Given the description of an element on the screen output the (x, y) to click on. 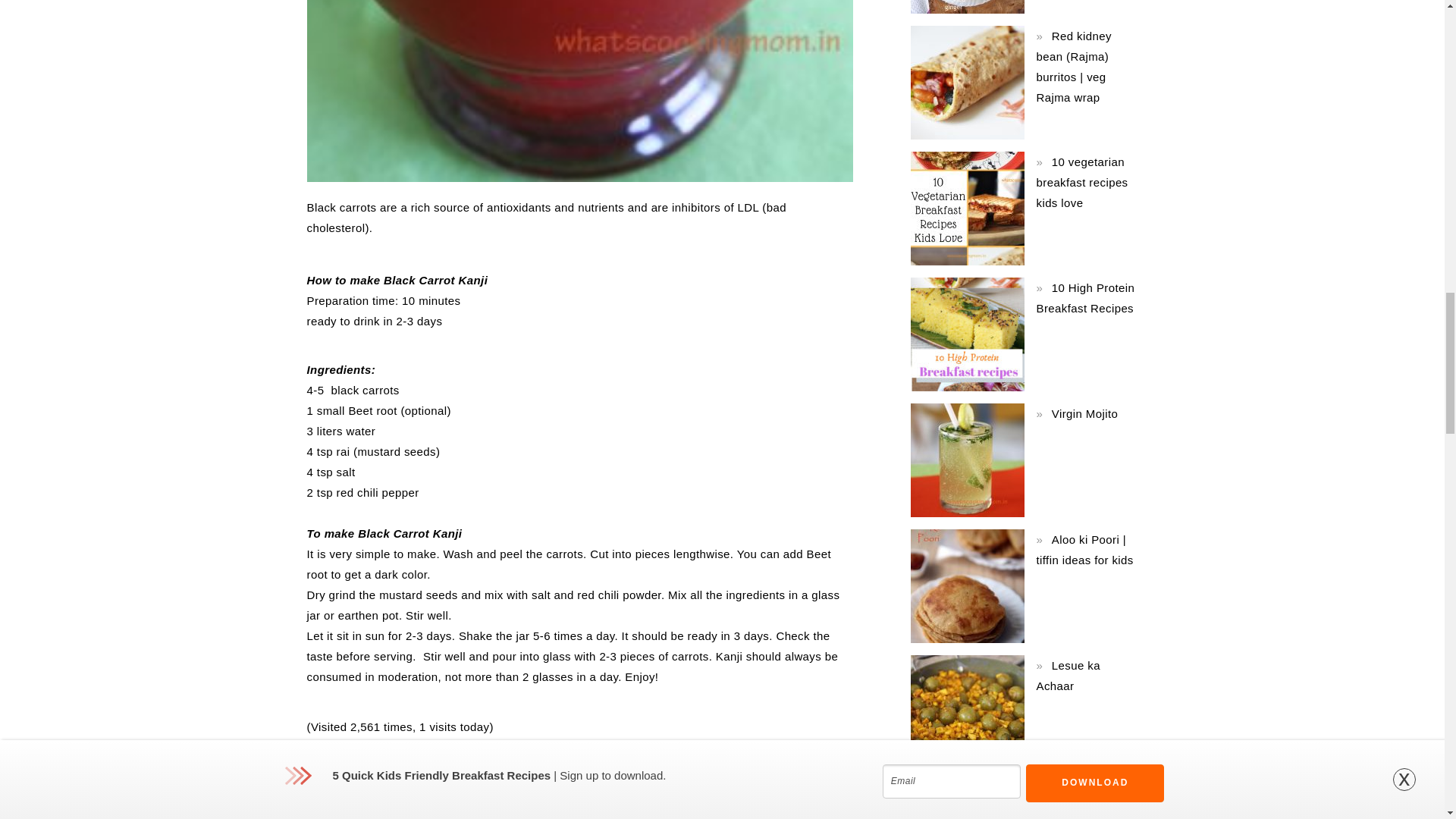
Black carrot Kanji (578, 90)
